Given the description of an element on the screen output the (x, y) to click on. 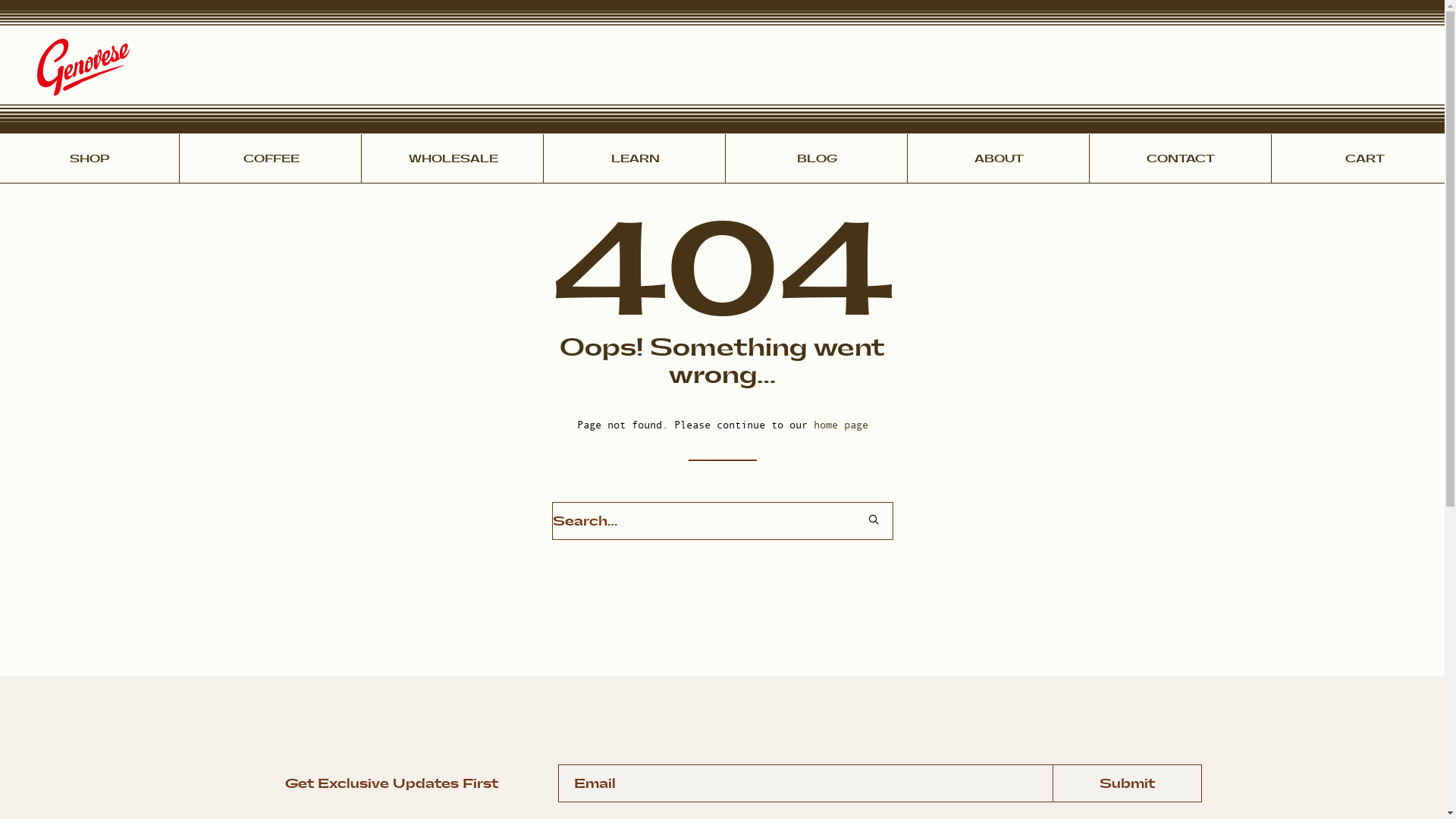
SHOP Element type: text (89, 158)
WHOLESALE Element type: text (453, 158)
BLOG Element type: text (817, 158)
LEARN Element type: text (635, 158)
CONTACT Element type: text (1180, 158)
Submit Element type: text (1126, 783)
home page Element type: text (839, 423)
Search for: Element type: hover (722, 520)
ABOUT Element type: text (998, 158)
COFFEE Element type: text (271, 158)
CART Element type: text (1364, 158)
